Given the description of an element on the screen output the (x, y) to click on. 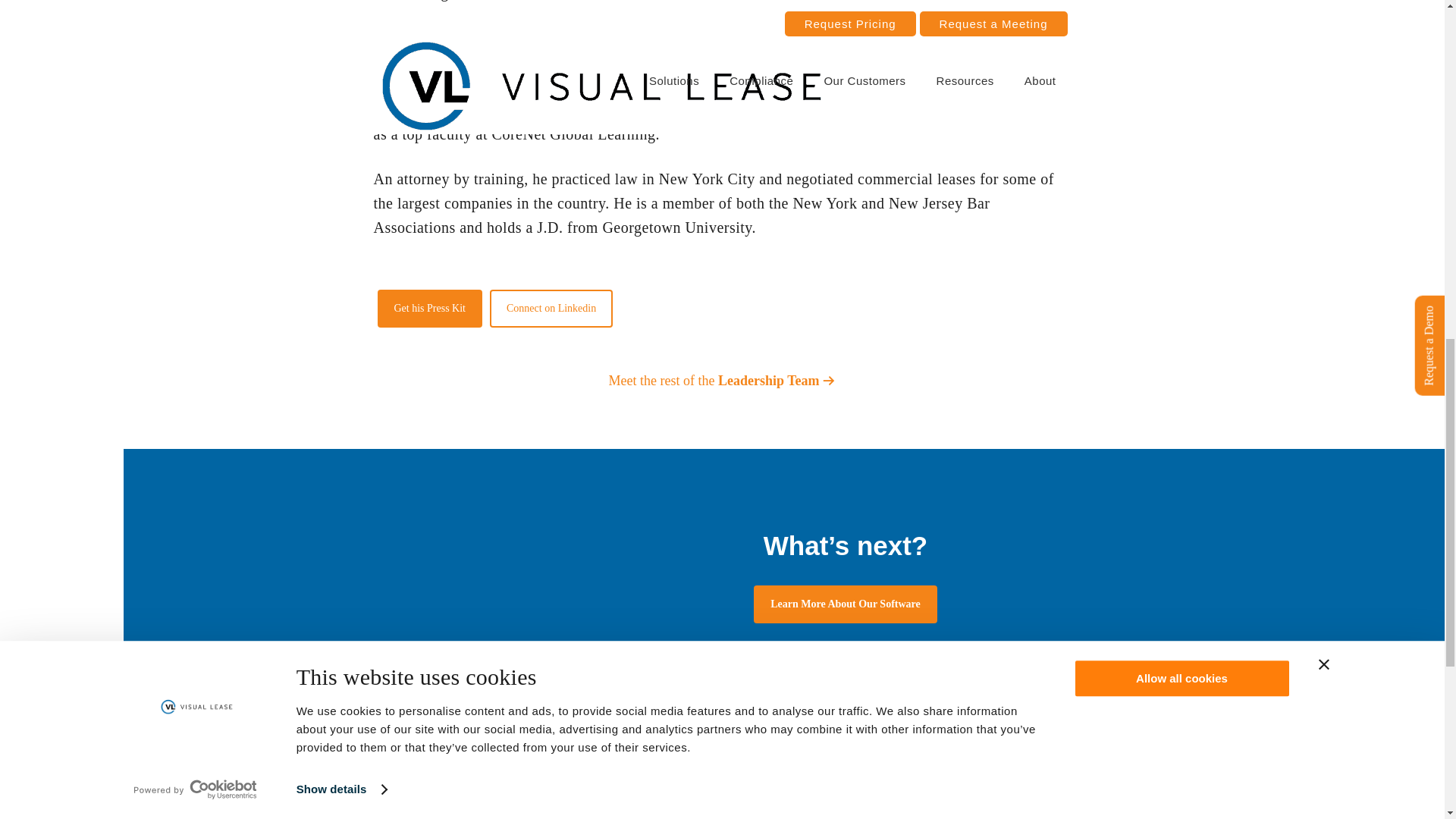
Search (1046, 769)
Search (1046, 769)
